Given the description of an element on the screen output the (x, y) to click on. 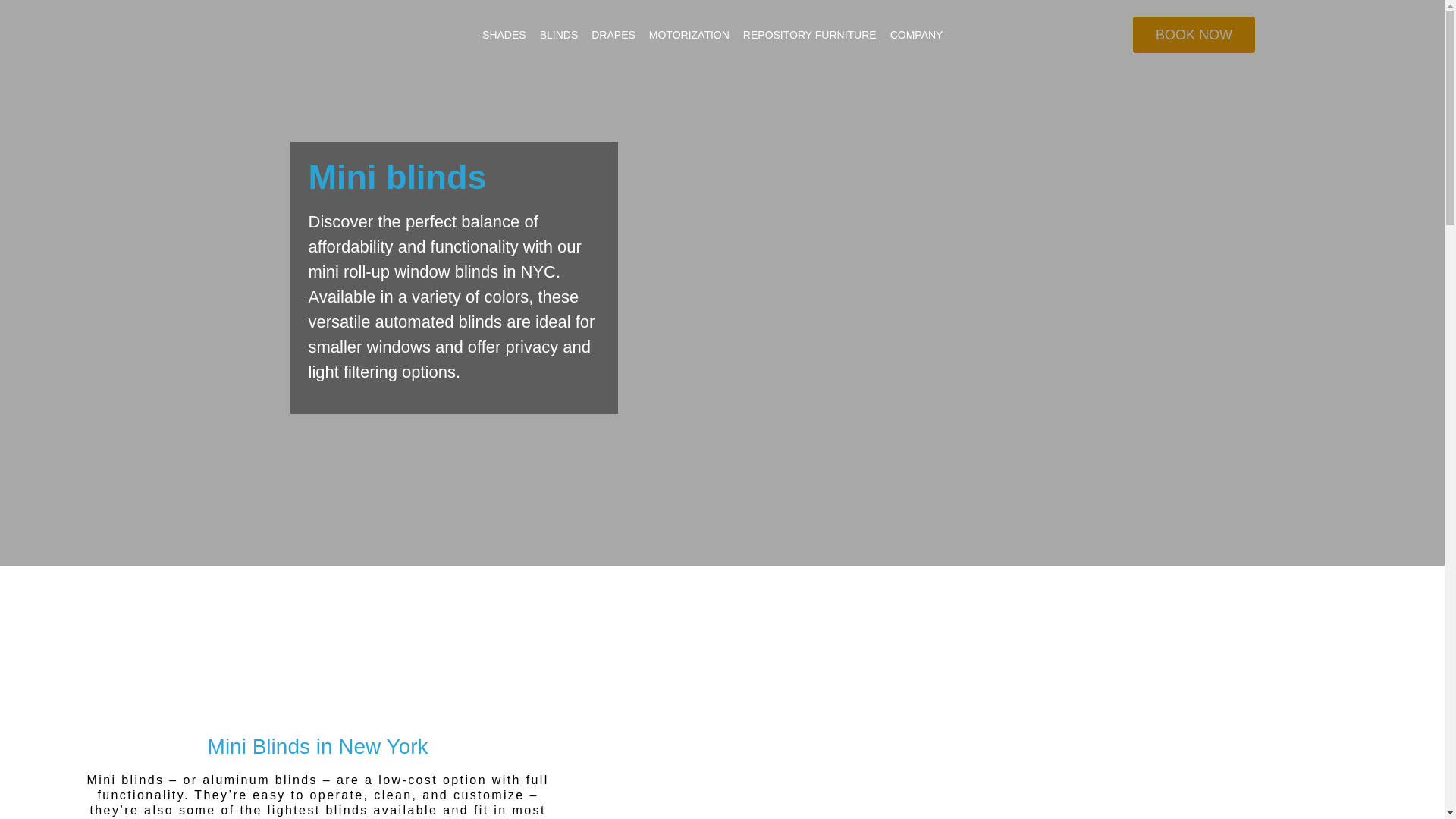
DRAPES (613, 34)
SHADES (504, 34)
REPOSITORY FURNITURE (809, 34)
BLINDS (558, 34)
COMPANY (916, 34)
MOTORIZATION (689, 34)
